Given the description of an element on the screen output the (x, y) to click on. 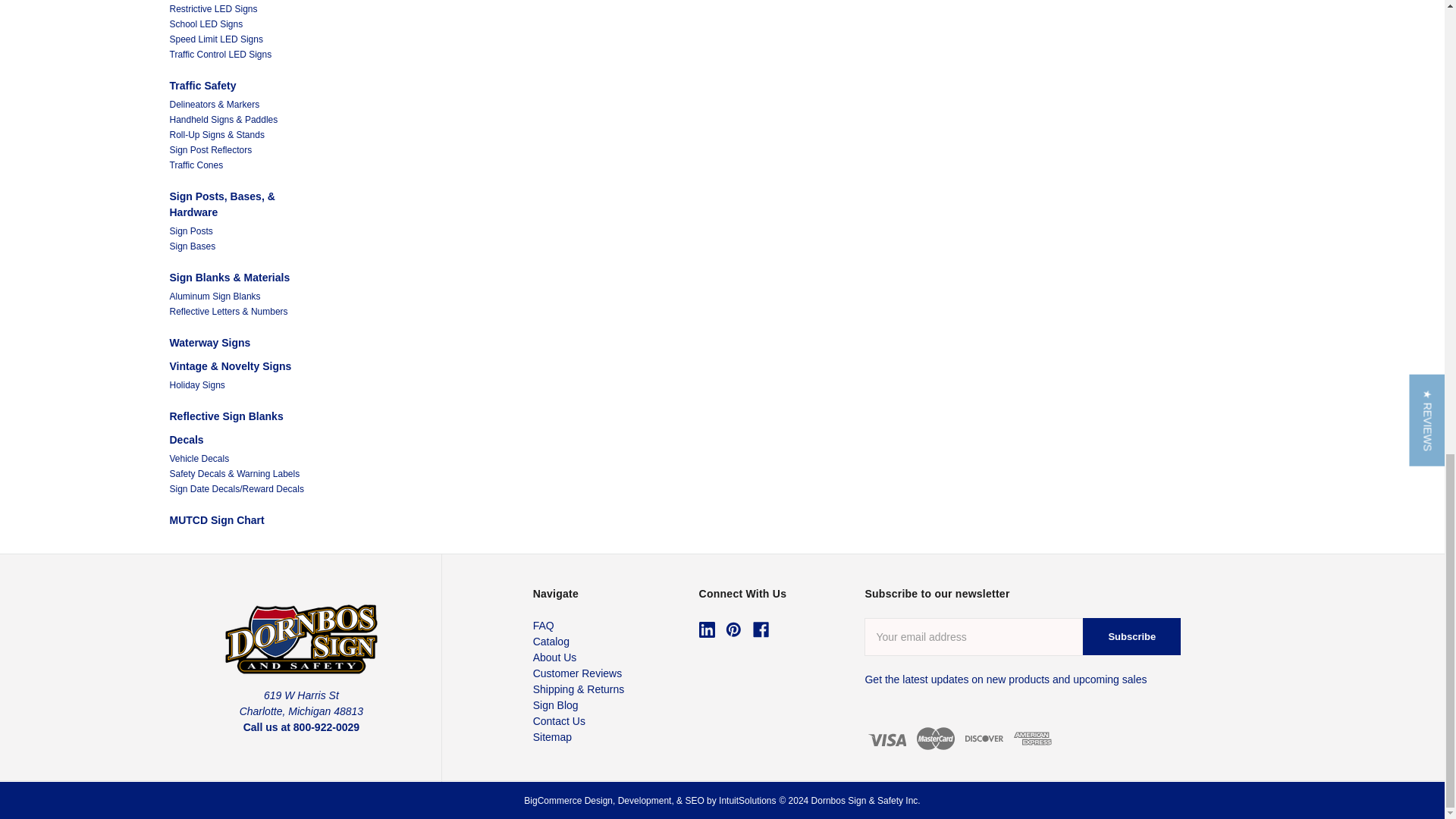
Subscribe (1131, 636)
